Given the description of an element on the screen output the (x, y) to click on. 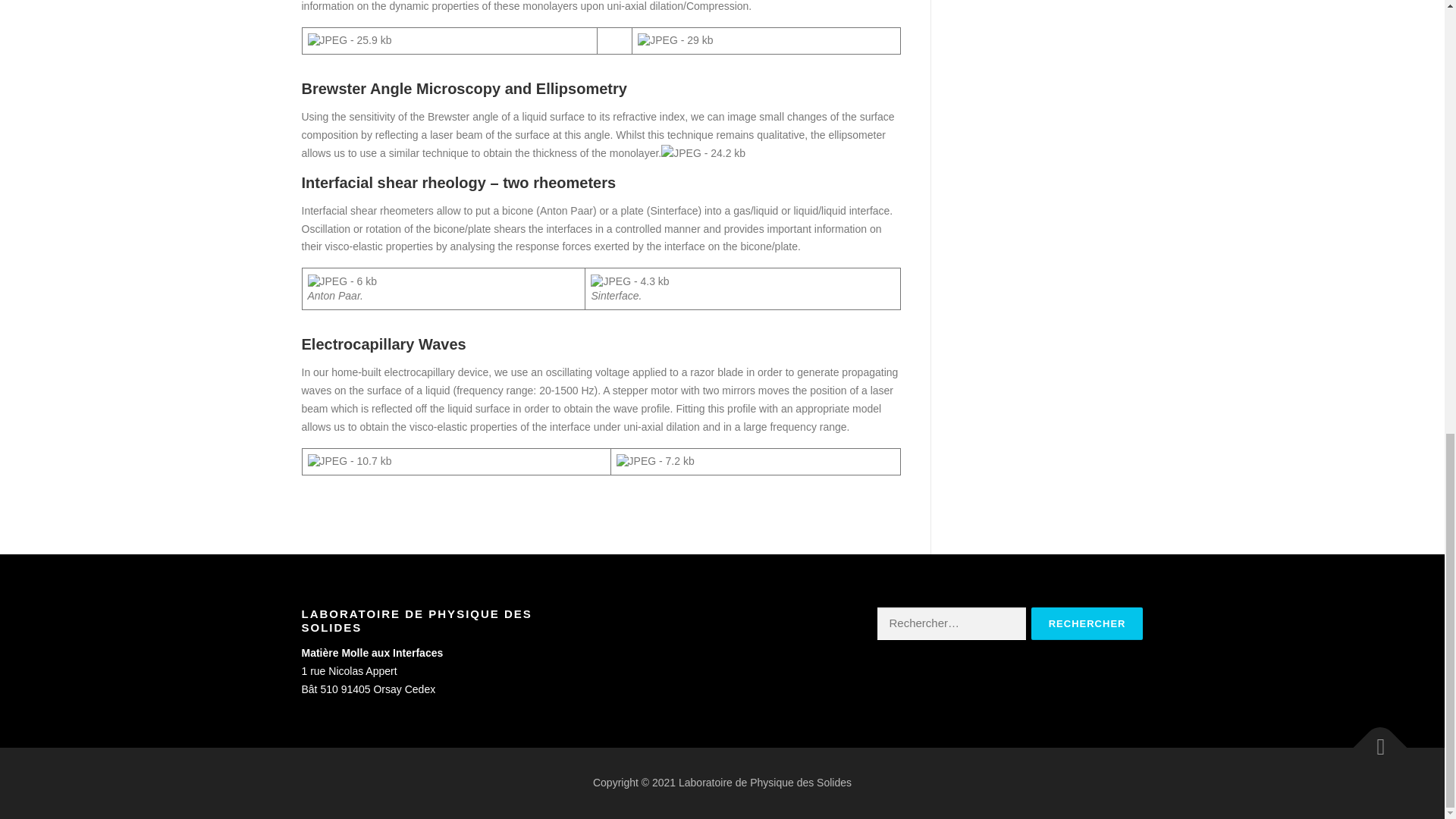
Rechercher (1086, 623)
Retour en haut (1372, 740)
Rechercher (1086, 623)
